Given the description of an element on the screen output the (x, y) to click on. 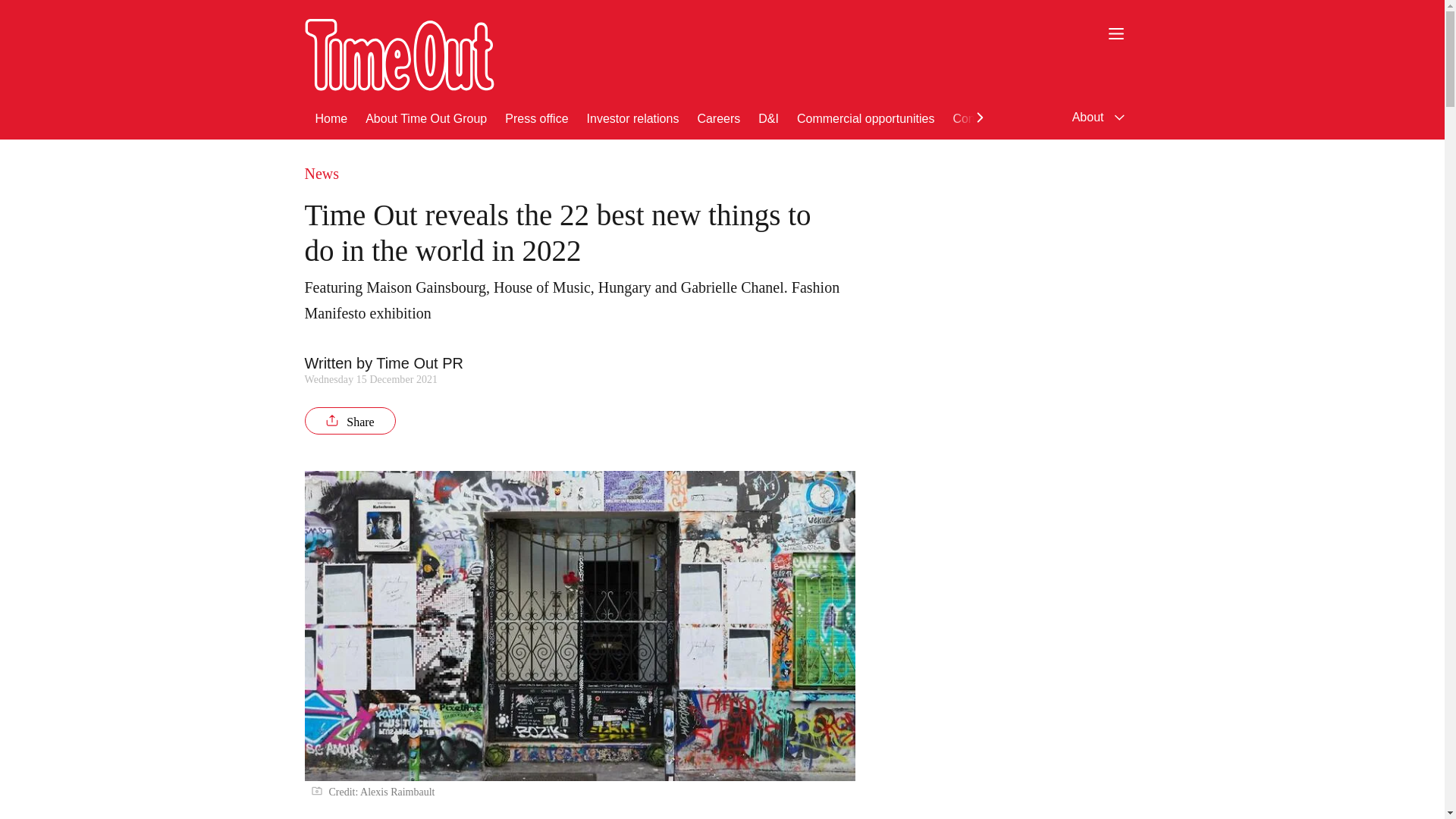
Investor relations (633, 116)
Investor relations (633, 116)
Contact us (980, 116)
Careers (718, 116)
About Time Out Group (425, 116)
Careers (718, 116)
Commercial opportunities (865, 116)
Home (331, 116)
Press office (536, 116)
